Given the description of an element on the screen output the (x, y) to click on. 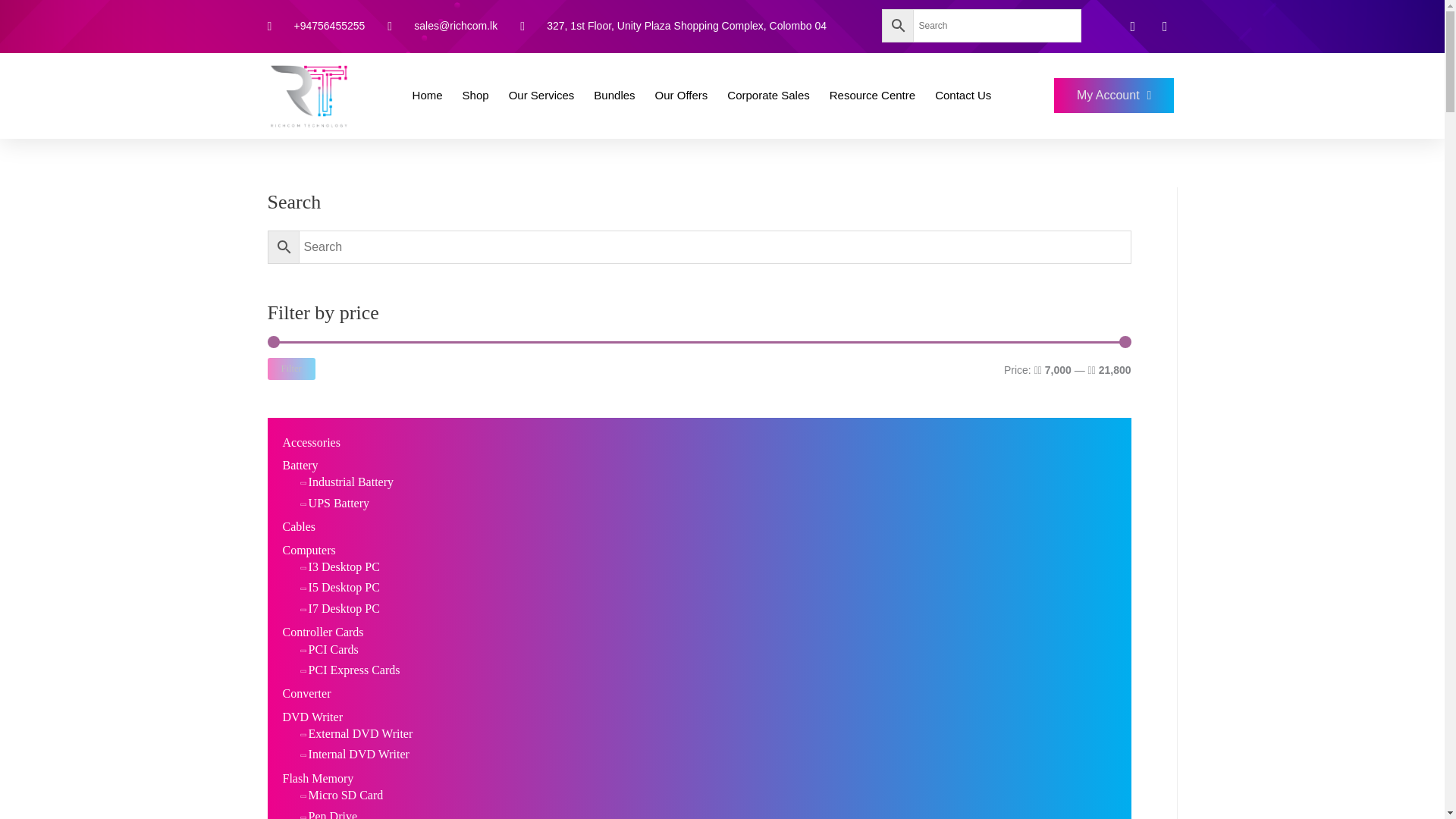
Home (426, 95)
Corporate Sales (767, 95)
Our Offers (681, 95)
Contact Us (962, 95)
Bundles (614, 95)
Resource Centre (872, 95)
My Account (1114, 95)
Shop (475, 95)
Our Services (541, 95)
